Given the description of an element on the screen output the (x, y) to click on. 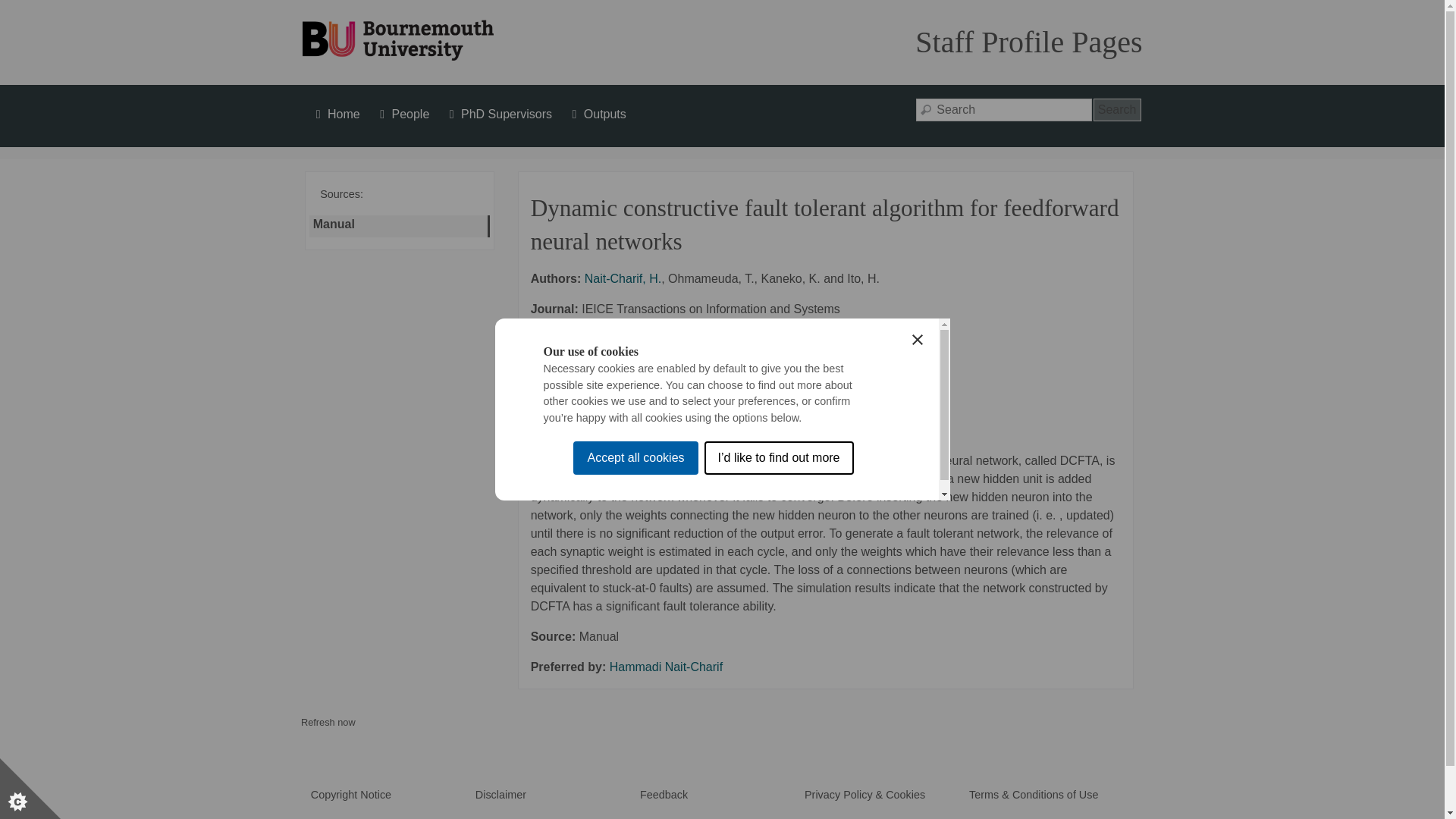
Outputs (597, 114)
Feedback (663, 795)
PhD Supervisors (498, 114)
Accept all cookies (635, 693)
Copyright Notice (351, 795)
Bournemouth University (397, 40)
Nait-Charif, H. (623, 278)
Home (334, 114)
Refresh now (328, 722)
Search (1117, 109)
Staff Profile Pages (1028, 41)
People (402, 114)
Disclaimer (500, 795)
Hammadi Nait-Charif (666, 666)
Manual (335, 226)
